Given the description of an element on the screen output the (x, y) to click on. 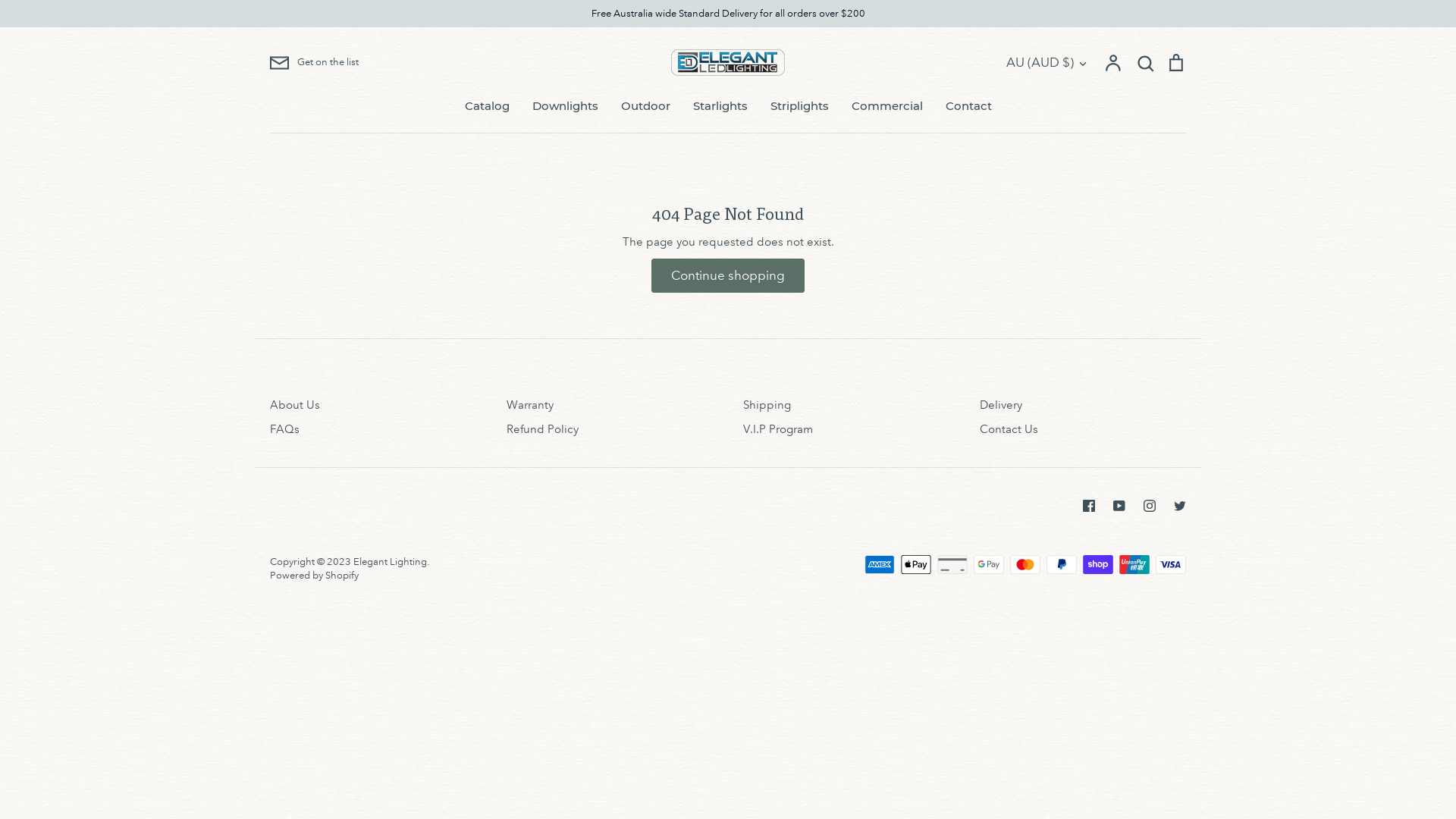
Warranty Element type: text (529, 404)
Search Element type: text (1144, 61)
FAQs Element type: text (284, 429)
Account Element type: text (1113, 61)
Cart Element type: text (1176, 61)
Outdoor Element type: text (644, 105)
Get on the list Element type: text (313, 62)
V.I.P Program Element type: text (777, 429)
Delivery Element type: text (1000, 404)
Striplights Element type: text (799, 105)
Catalog Element type: text (486, 105)
Refund Policy Element type: text (542, 429)
Starlights Element type: text (720, 105)
About Us Element type: text (294, 404)
Contact Us Element type: text (1008, 429)
Commercial Element type: text (886, 105)
Elegant Lighting Element type: text (389, 561)
AU (AUD $) Element type: text (1047, 62)
Contact Element type: text (967, 105)
Continue shopping Element type: text (727, 275)
Powered by Shopify Element type: text (313, 575)
Downlights Element type: text (565, 105)
Shipping Element type: text (766, 404)
